Given the description of an element on the screen output the (x, y) to click on. 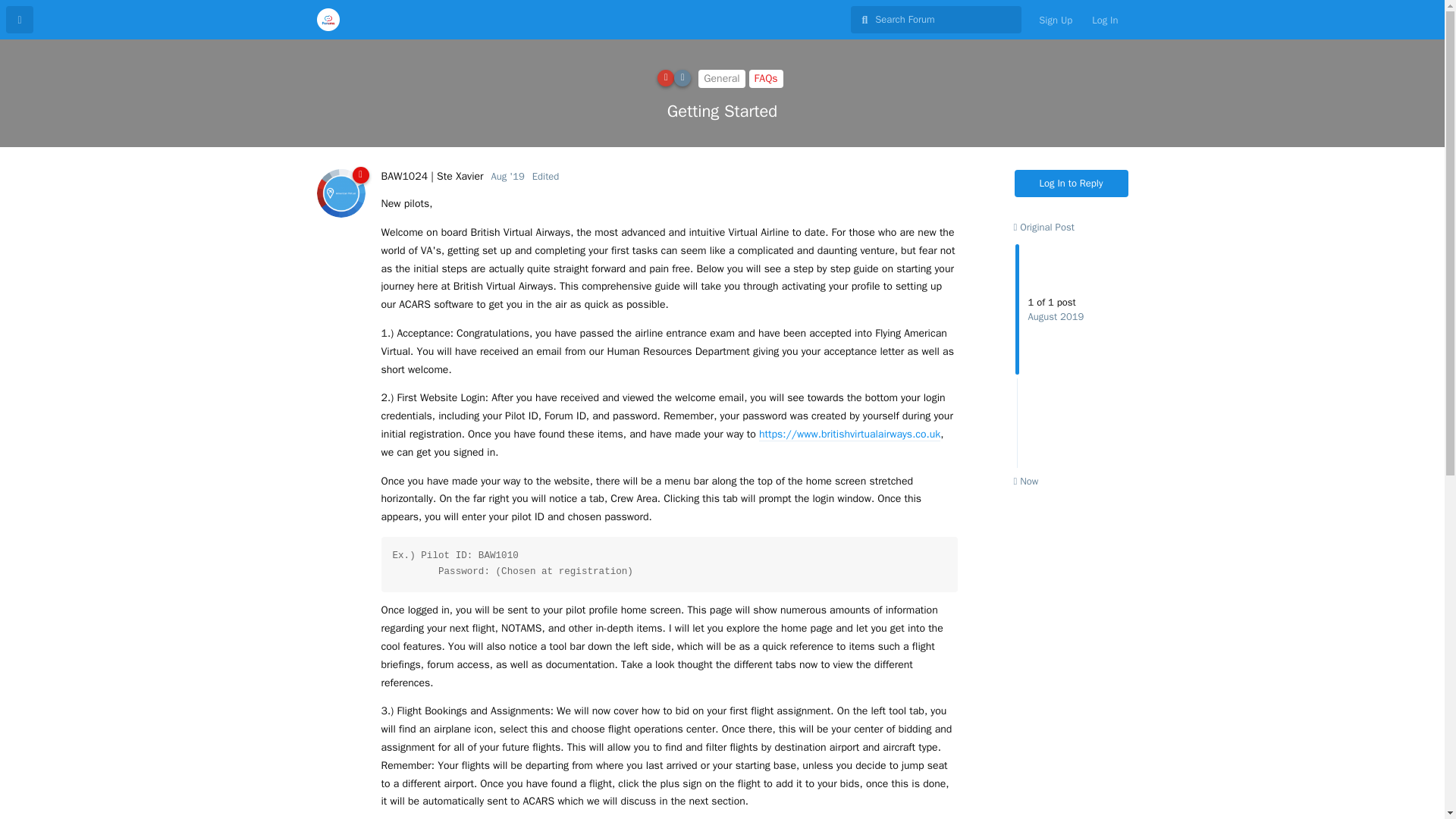
Sign Up (1055, 19)
Log In to Reply (1071, 183)
Sunday, August 25, 2019 1:32 AM (508, 175)
Sticky (666, 77)
Now (1025, 481)
Original Post (1043, 226)
Log In to Reply (1071, 183)
General (721, 78)
Aug '19 (508, 175)
Frequently Asked Questions (766, 78)
FAQs (766, 78)
Locked (682, 77)
Sign Up (1055, 19)
Log In (1103, 19)
Back to Discussion List (19, 19)
